Given the description of an element on the screen output the (x, y) to click on. 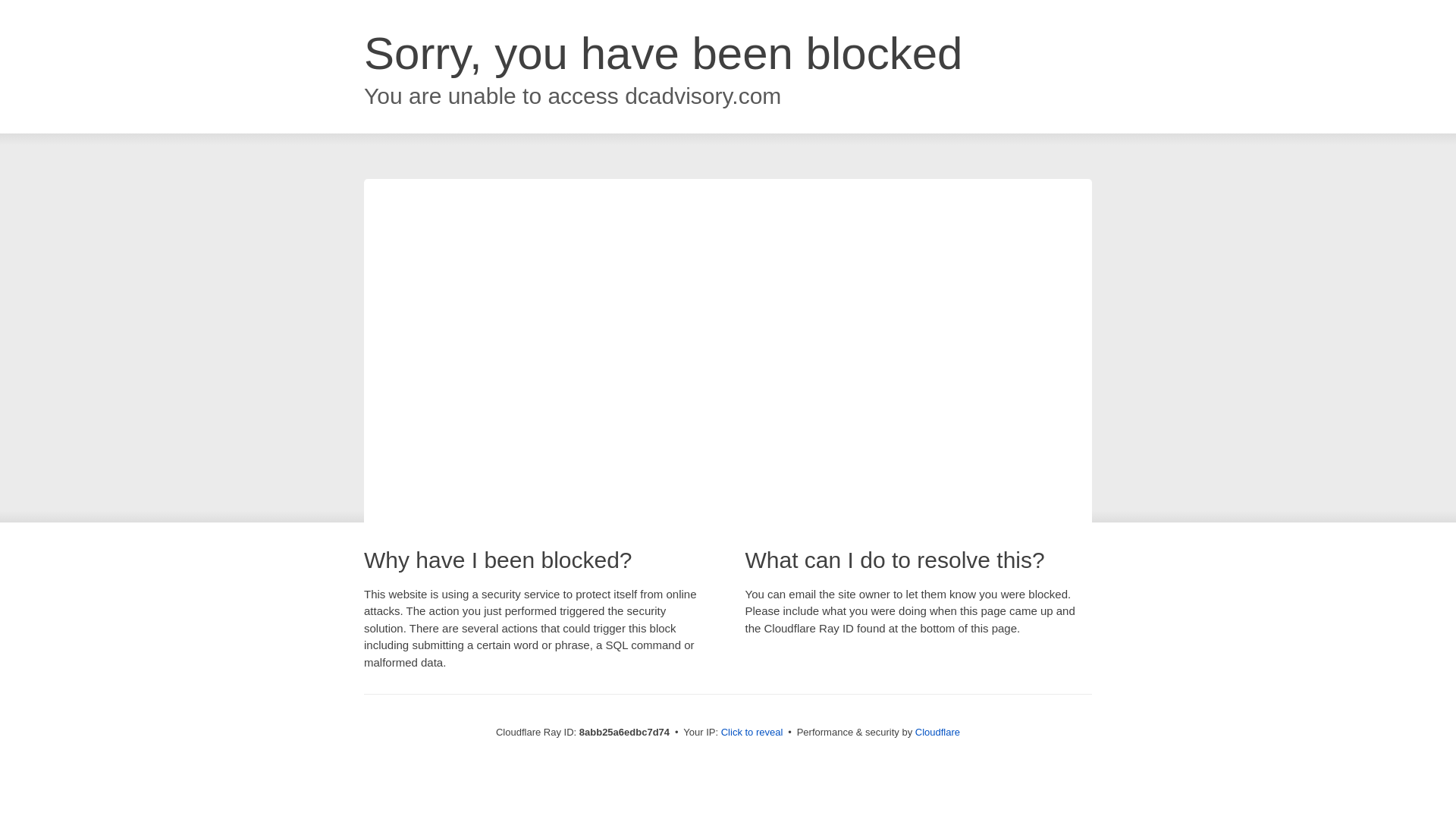
Click to reveal (751, 732)
Cloudflare (937, 731)
